Given the description of an element on the screen output the (x, y) to click on. 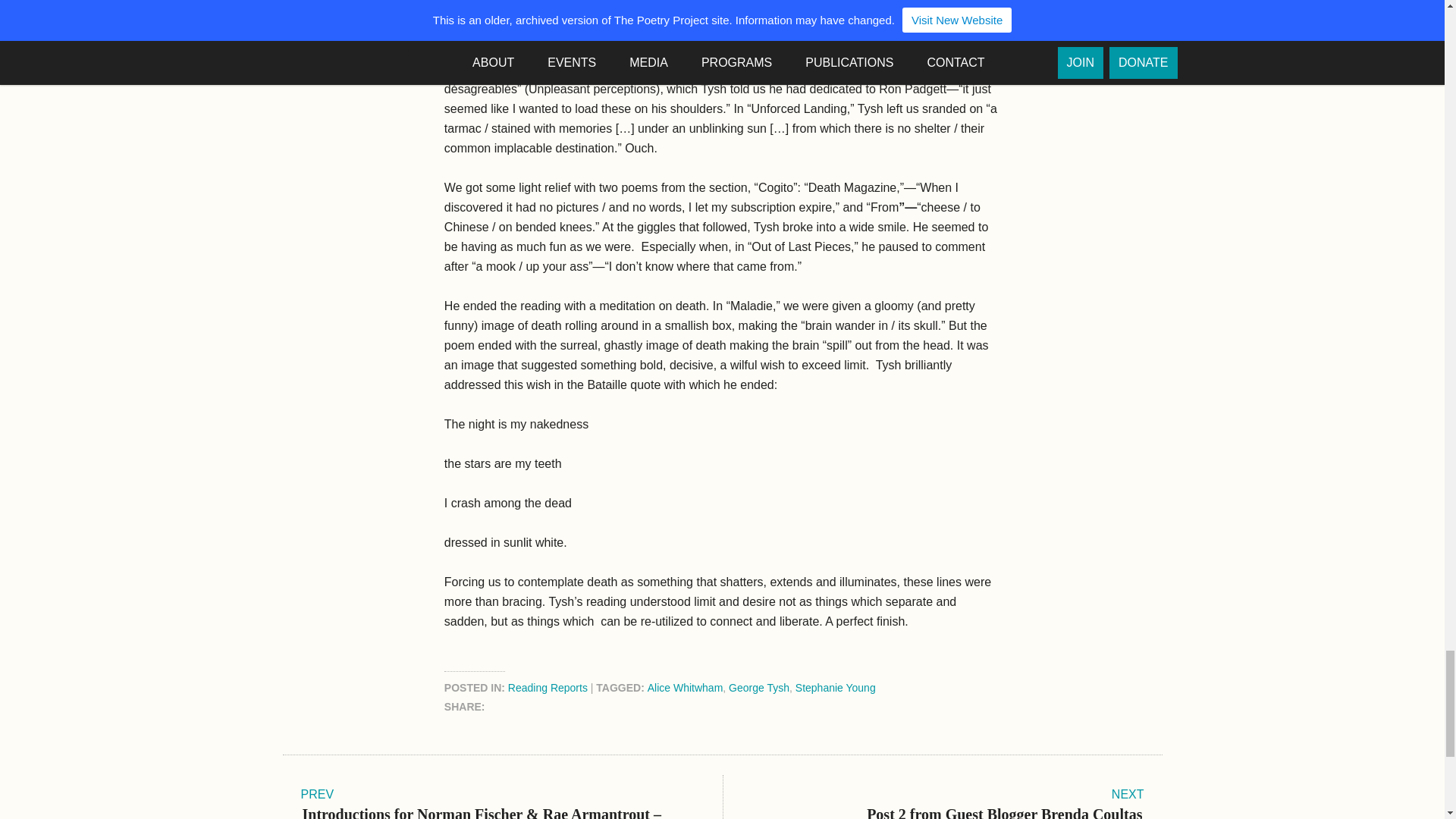
Reading Reports (548, 687)
Email (619, 706)
Facebook (504, 706)
Tweet (590, 706)
Pinterest (562, 706)
